Given the description of an element on the screen output the (x, y) to click on. 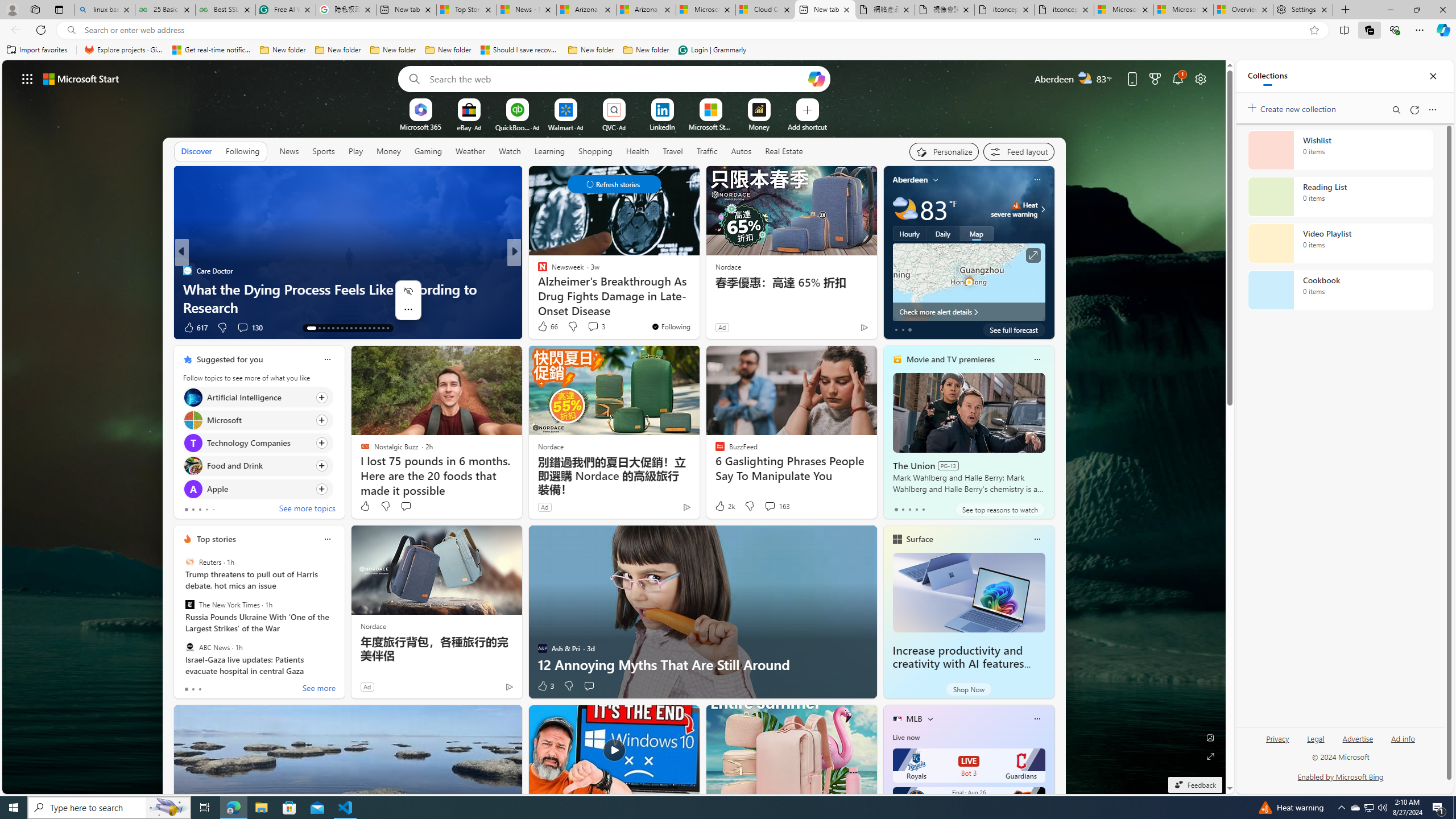
My location (936, 179)
Larger map  (968, 282)
The Weather Channel (537, 270)
View comments 26 Comment (597, 327)
